Given the description of an element on the screen output the (x, y) to click on. 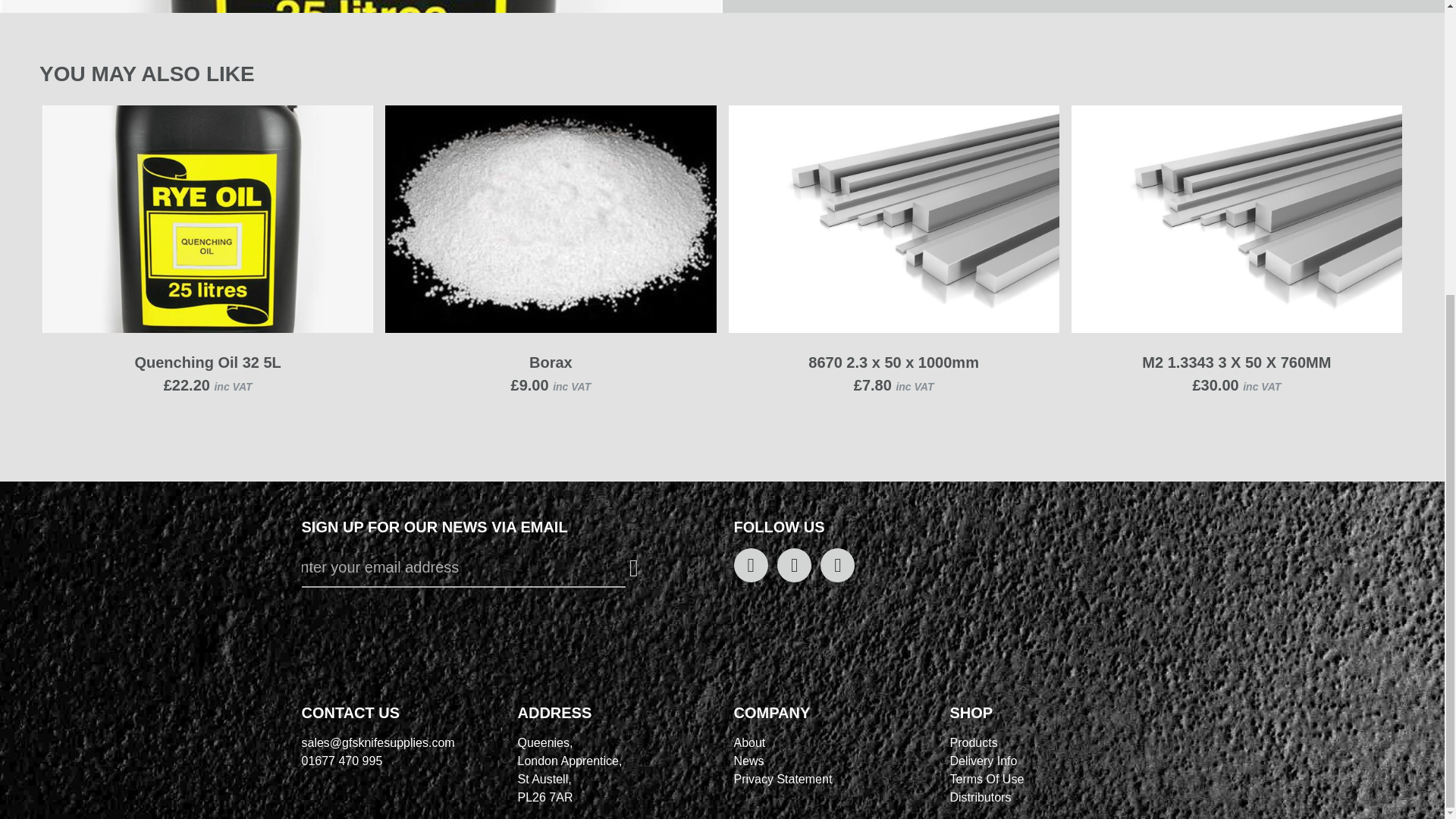
Borax (550, 362)
Quenching Oil 32 5L (207, 362)
